Given the description of an element on the screen output the (x, y) to click on. 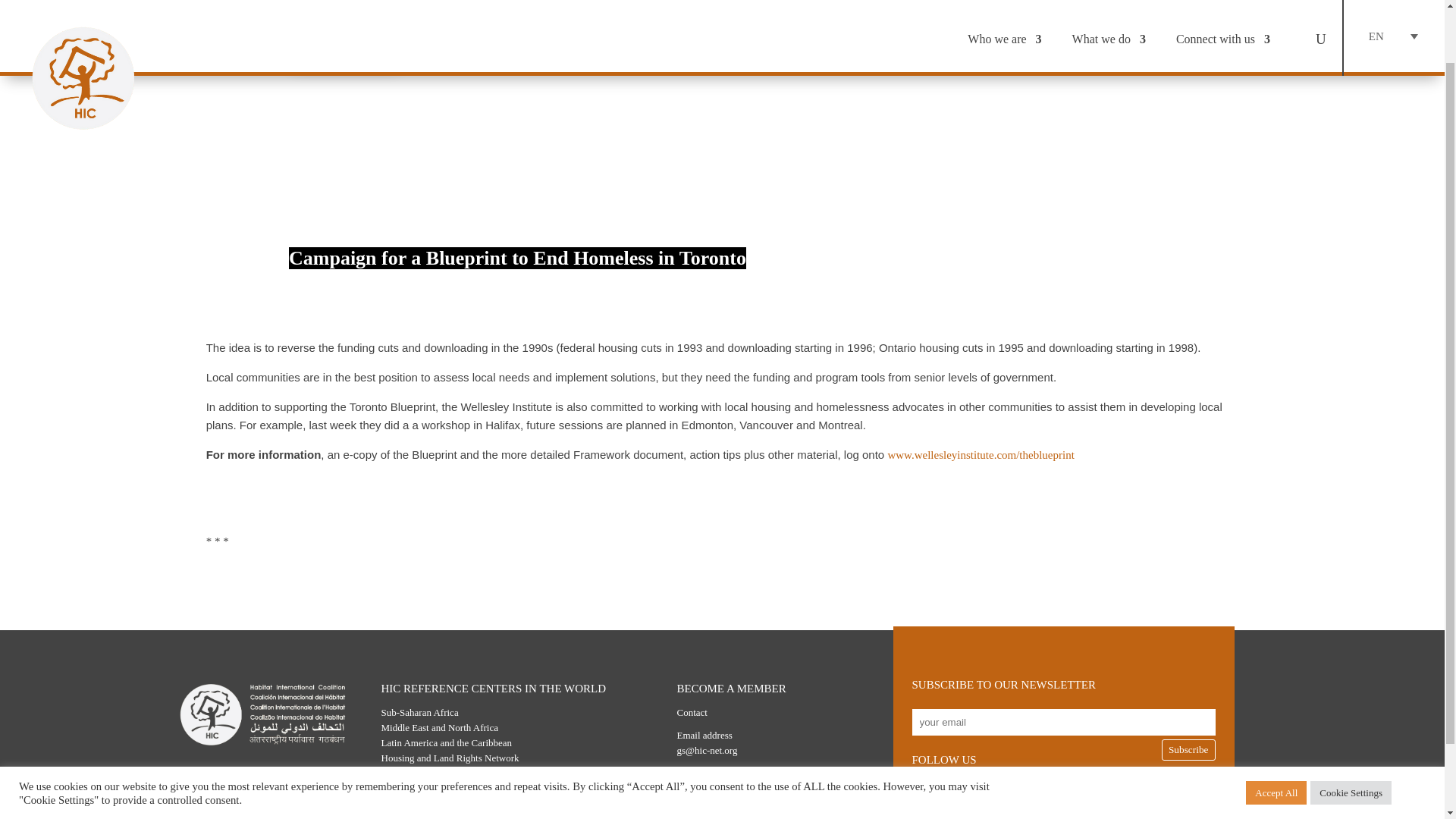
Connect with us (1222, 2)
Housing and Land Rights Network (449, 757)
 Middle East and North Africa (438, 727)
General Secretariat (418, 772)
Follow on LinkedIn (1135, 789)
What we do (1108, 2)
Latin America and the Caribbean (446, 742)
Who we are (1004, 2)
Follow on Google (1012, 789)
Sub-Saharan Africa (419, 712)
Follow on Facebook (1053, 789)
HIC-LOGO-MULTIPLE-Languages-white (262, 714)
Follow on Youtube (1094, 789)
